Given the description of an element on the screen output the (x, y) to click on. 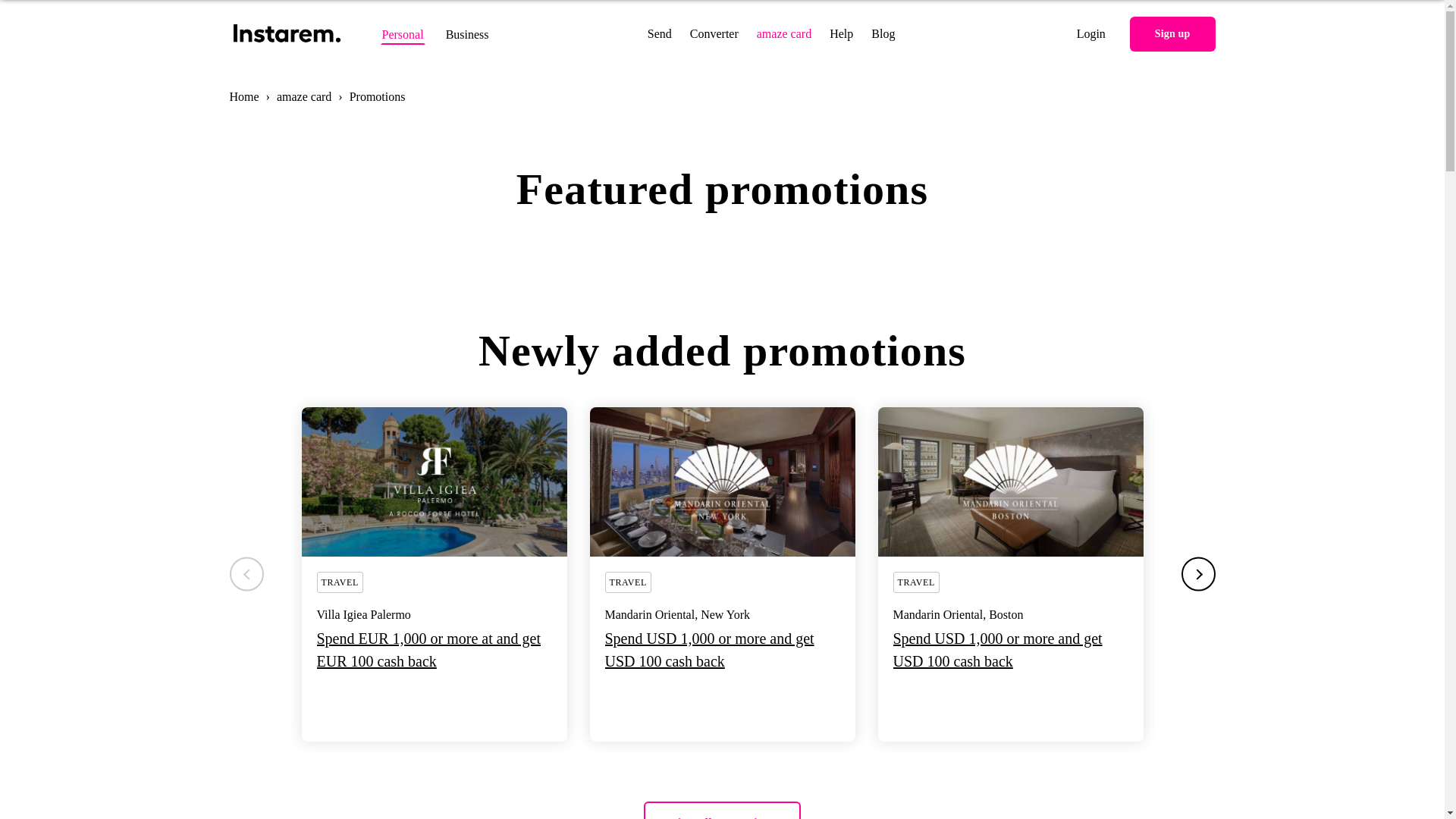
amaze card (305, 96)
Login (1091, 33)
Personal (402, 34)
amaze card (783, 33)
Business (467, 34)
Converter (714, 33)
Help (841, 33)
Sign up (1172, 33)
Send (659, 33)
Home (243, 96)
Blog (882, 33)
